Given the description of an element on the screen output the (x, y) to click on. 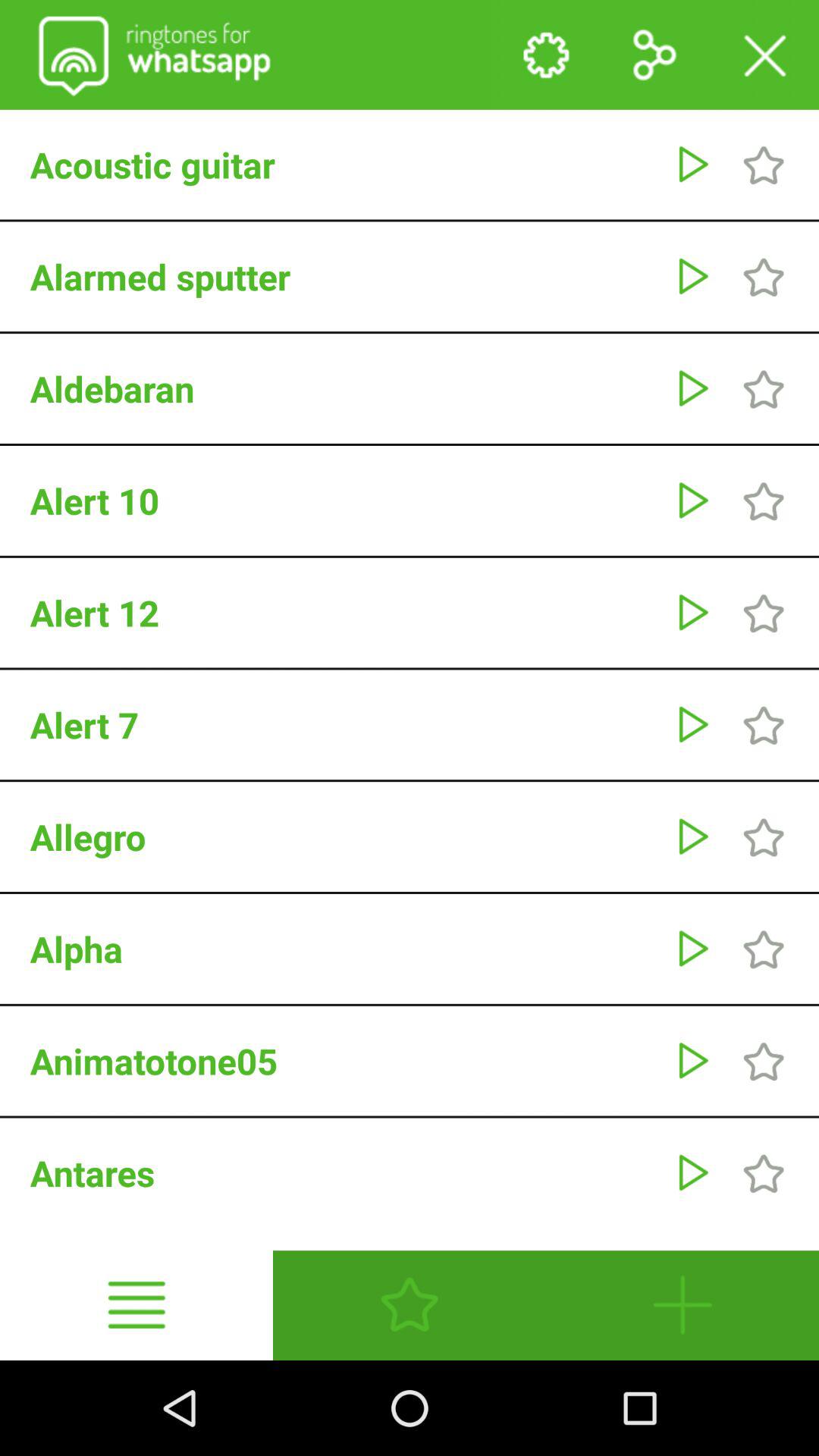
select antares app (344, 1172)
